Given the description of an element on the screen output the (x, y) to click on. 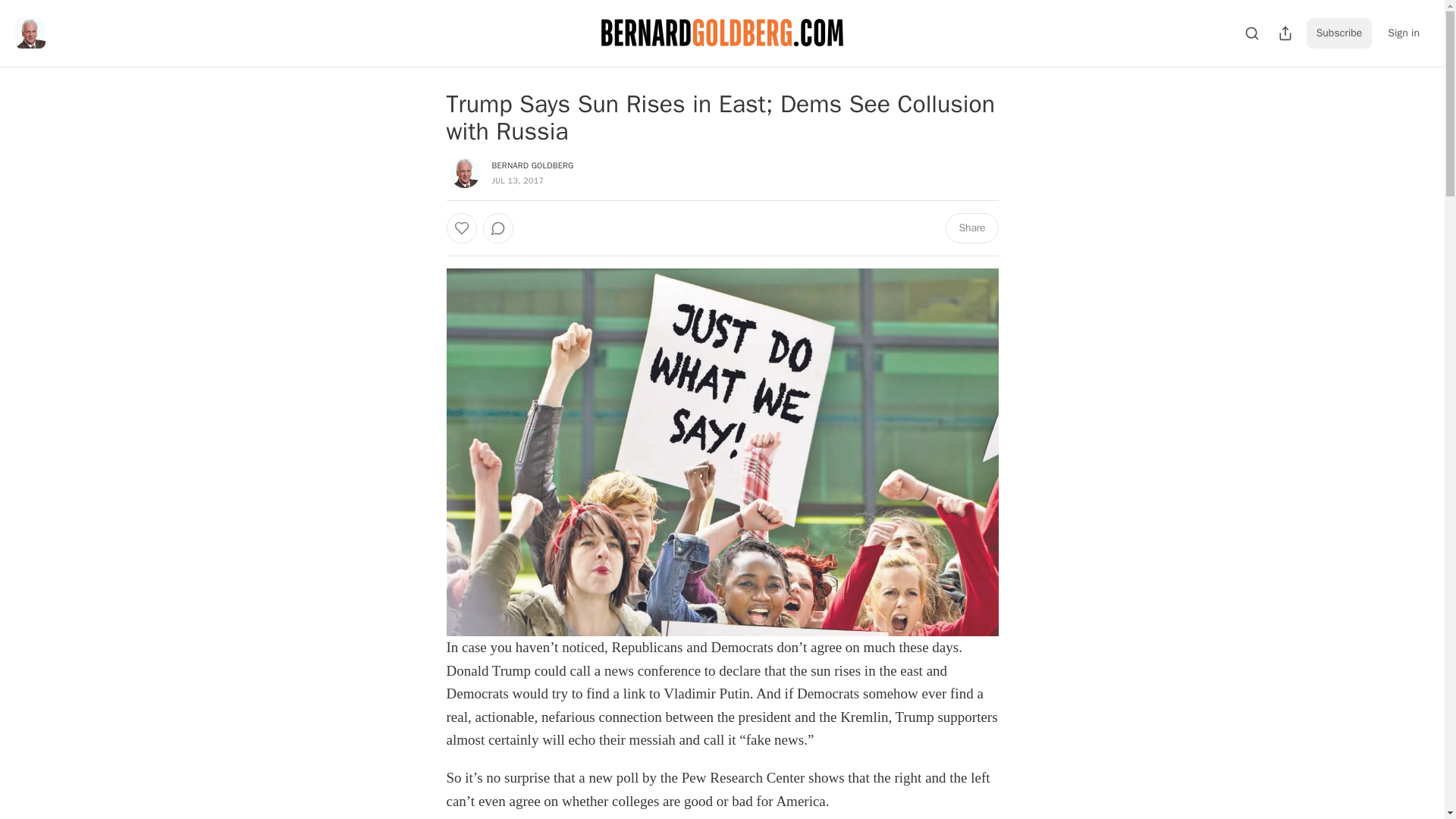
BERNARD GOLDBERG (532, 164)
Sign in (1403, 33)
Subscribe (1339, 33)
Share (970, 227)
